Given the description of an element on the screen output the (x, y) to click on. 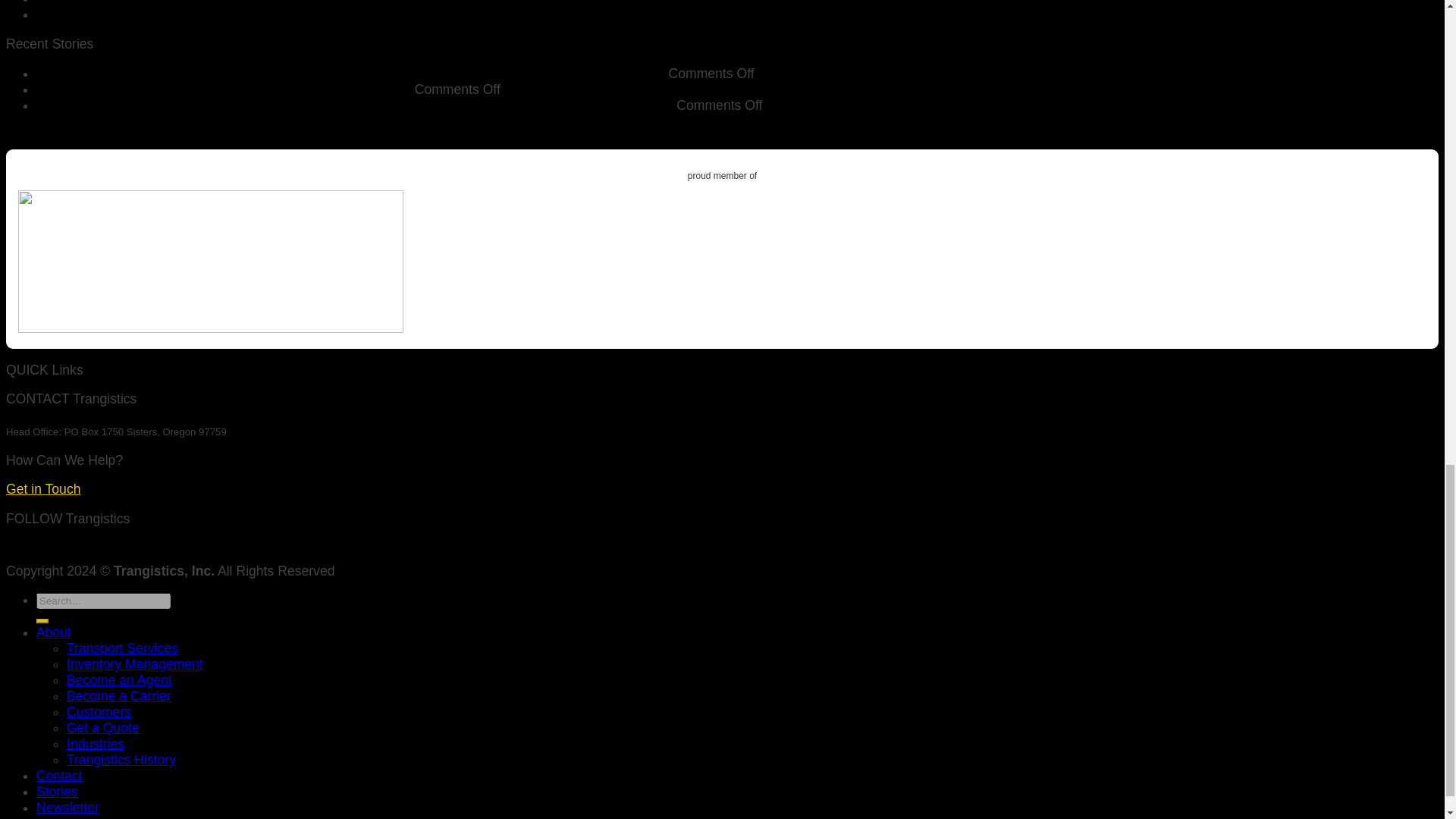
Sign up for Newsletter (67, 807)
